Given the description of an element on the screen output the (x, y) to click on. 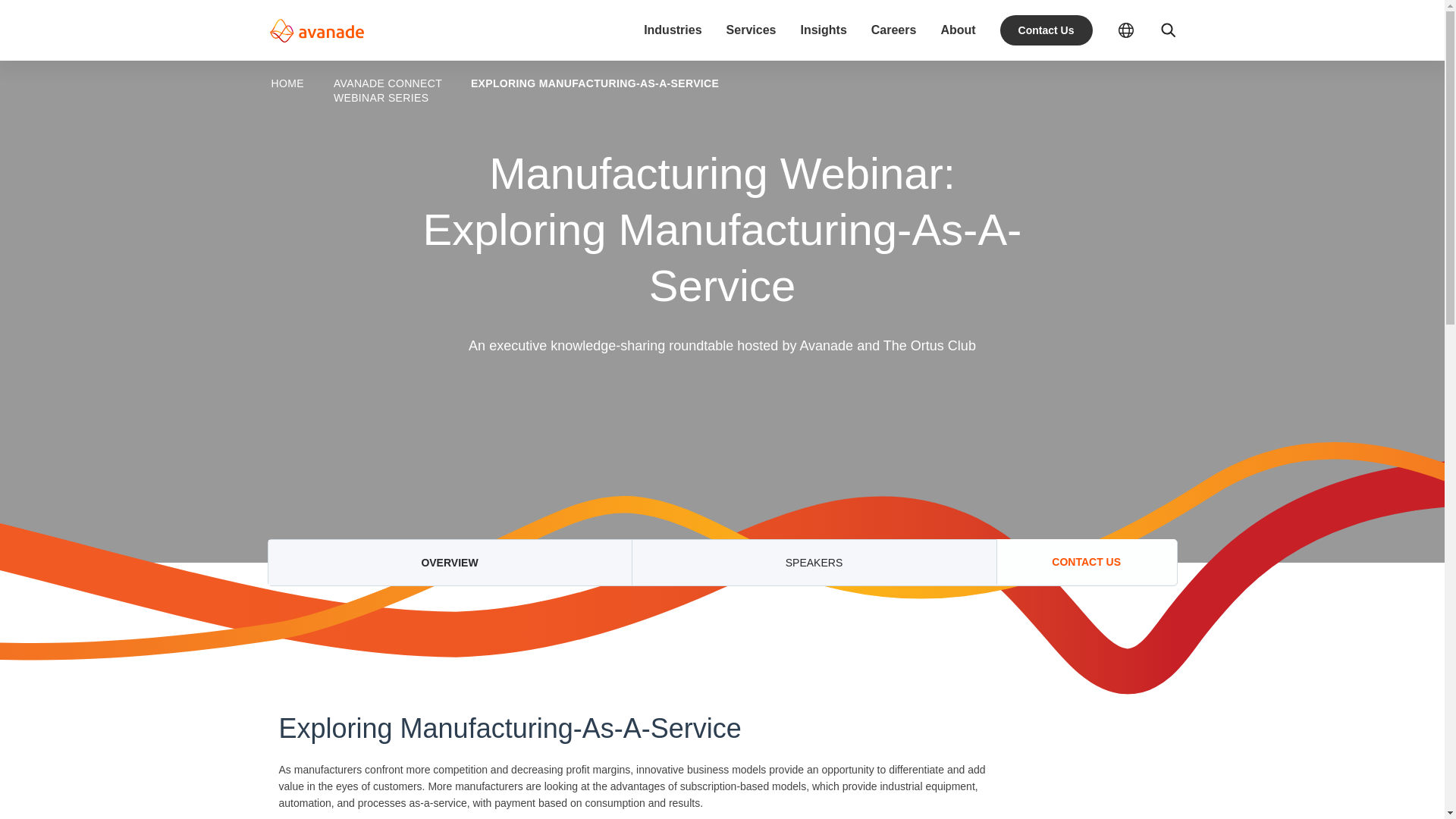
Search (1167, 30)
Services (751, 30)
Insights (822, 30)
Language Selector (1125, 30)
Contact Us (1046, 30)
Industries (672, 30)
Careers (893, 30)
